Given the description of an element on the screen output the (x, y) to click on. 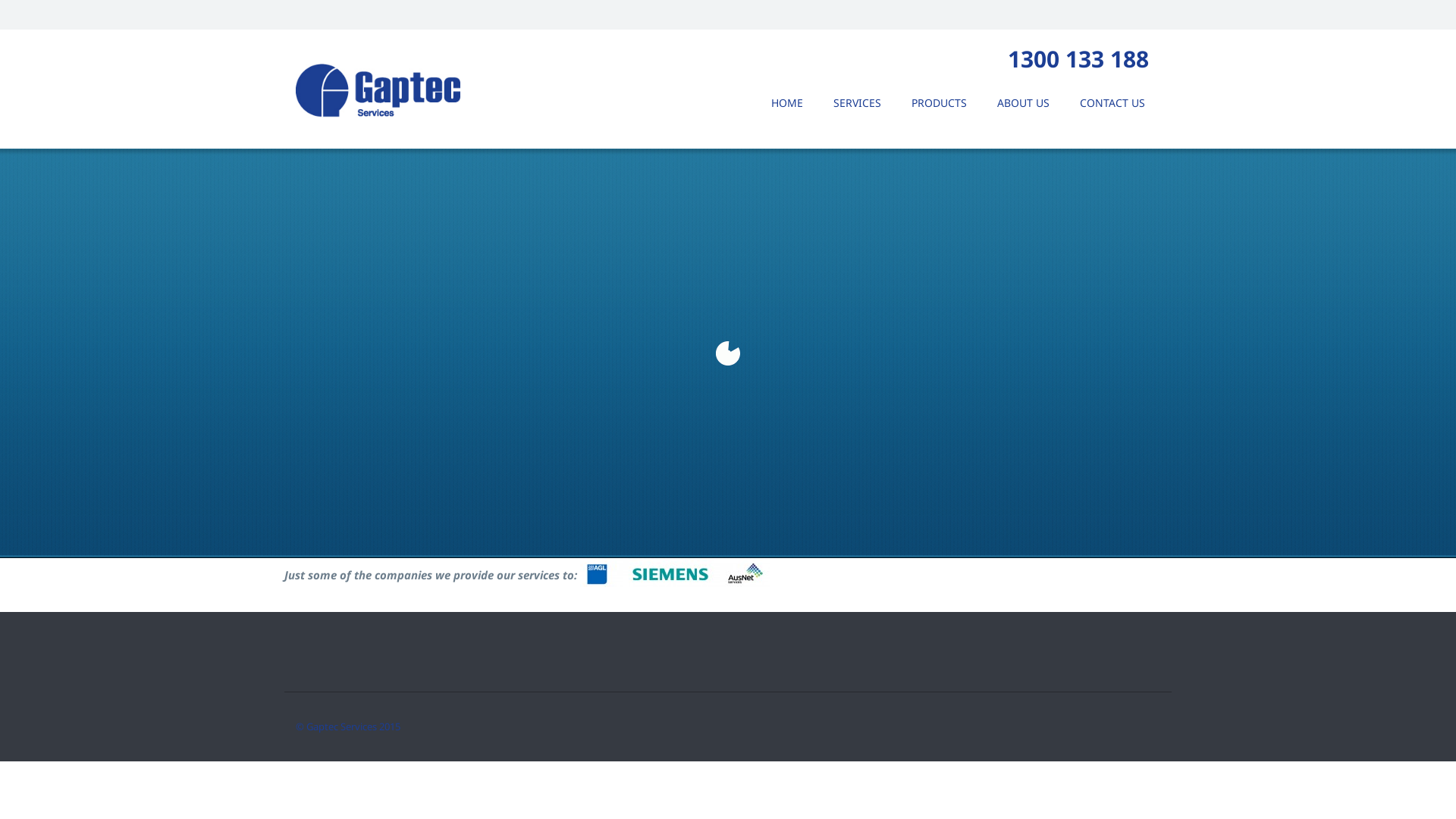
HOME Element type: text (787, 101)
SERVICES Element type: text (857, 101)
CONTACT US Element type: text (1112, 101)
ABOUT US Element type: text (1023, 101)
PRODUCTS Element type: text (939, 101)
